Given the description of an element on the screen output the (x, y) to click on. 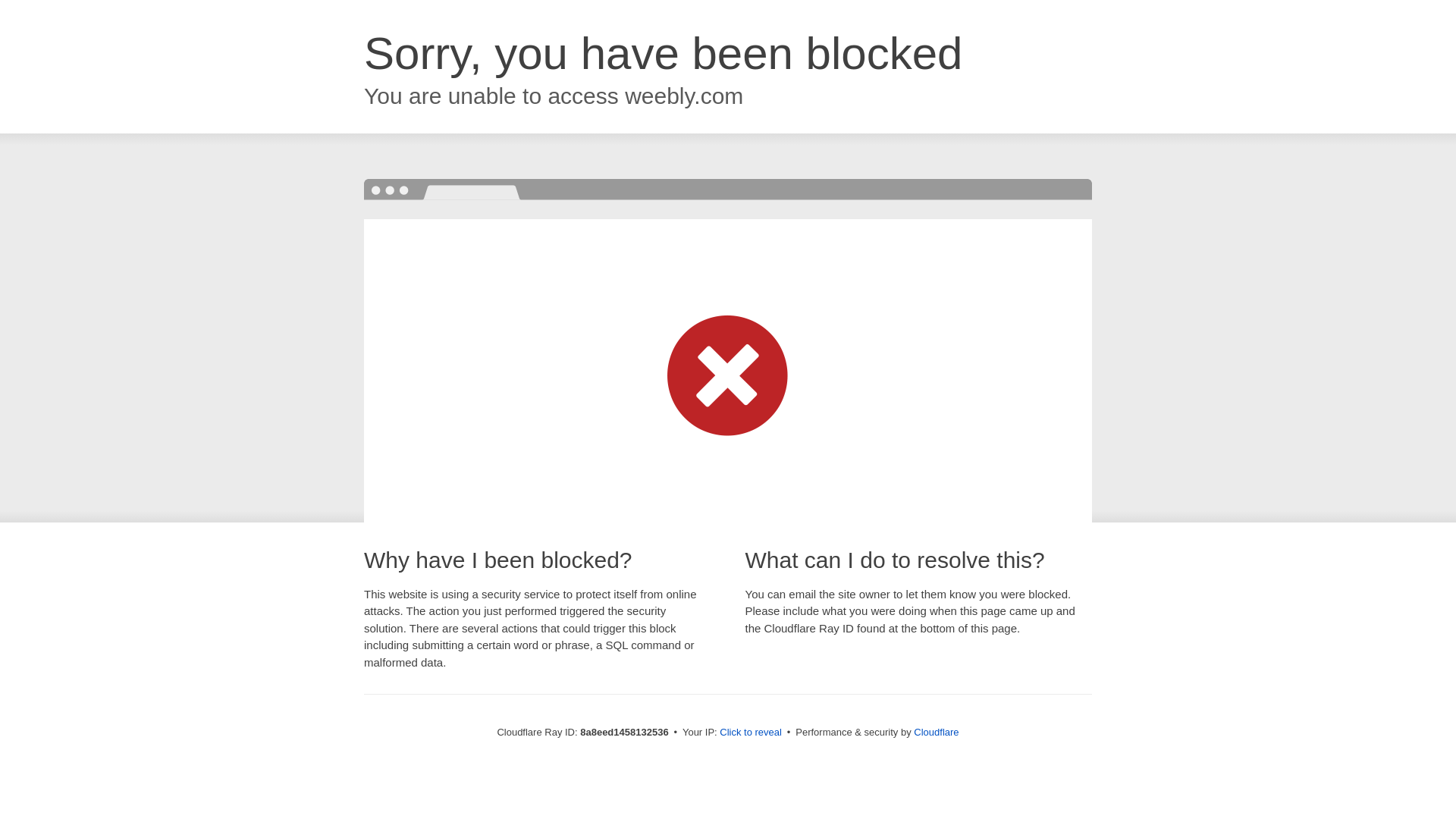
Cloudflare (936, 731)
Click to reveal (750, 732)
